Given the description of an element on the screen output the (x, y) to click on. 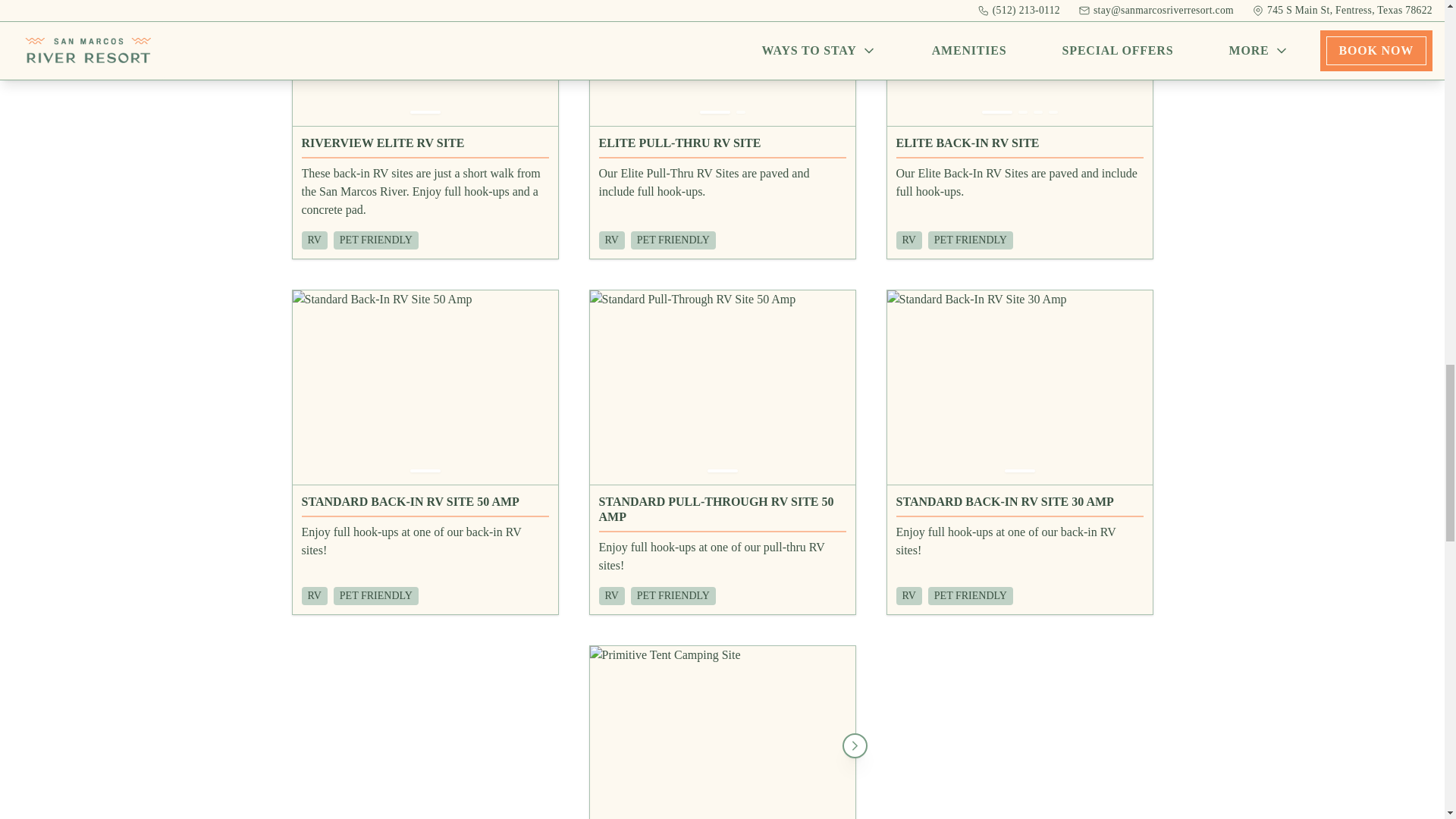
Standard Back-In RV Site 50 Amp (424, 505)
Elite Pull-Thru RV Site (721, 146)
Elite Back-In RV Site (1019, 146)
Standard Pull-Through RV Site 50 Amp (721, 513)
Standard Back-In RV Site 30 Amp (1019, 505)
Riverview Elite RV Site (424, 146)
